Given the description of an element on the screen output the (x, y) to click on. 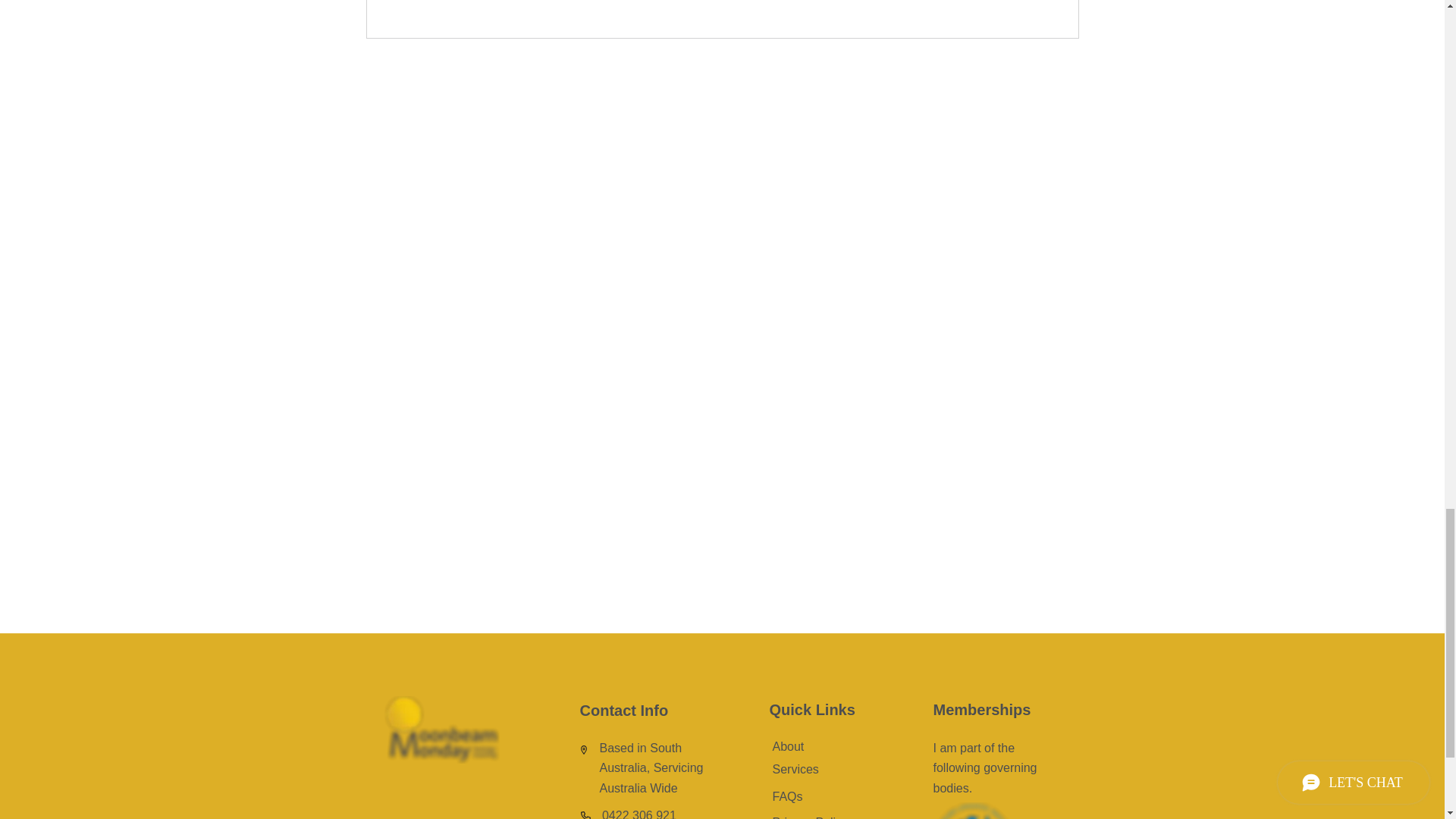
Services (794, 768)
Privacy Policy (809, 817)
FAQs (786, 796)
About (787, 746)
